Given the description of an element on the screen output the (x, y) to click on. 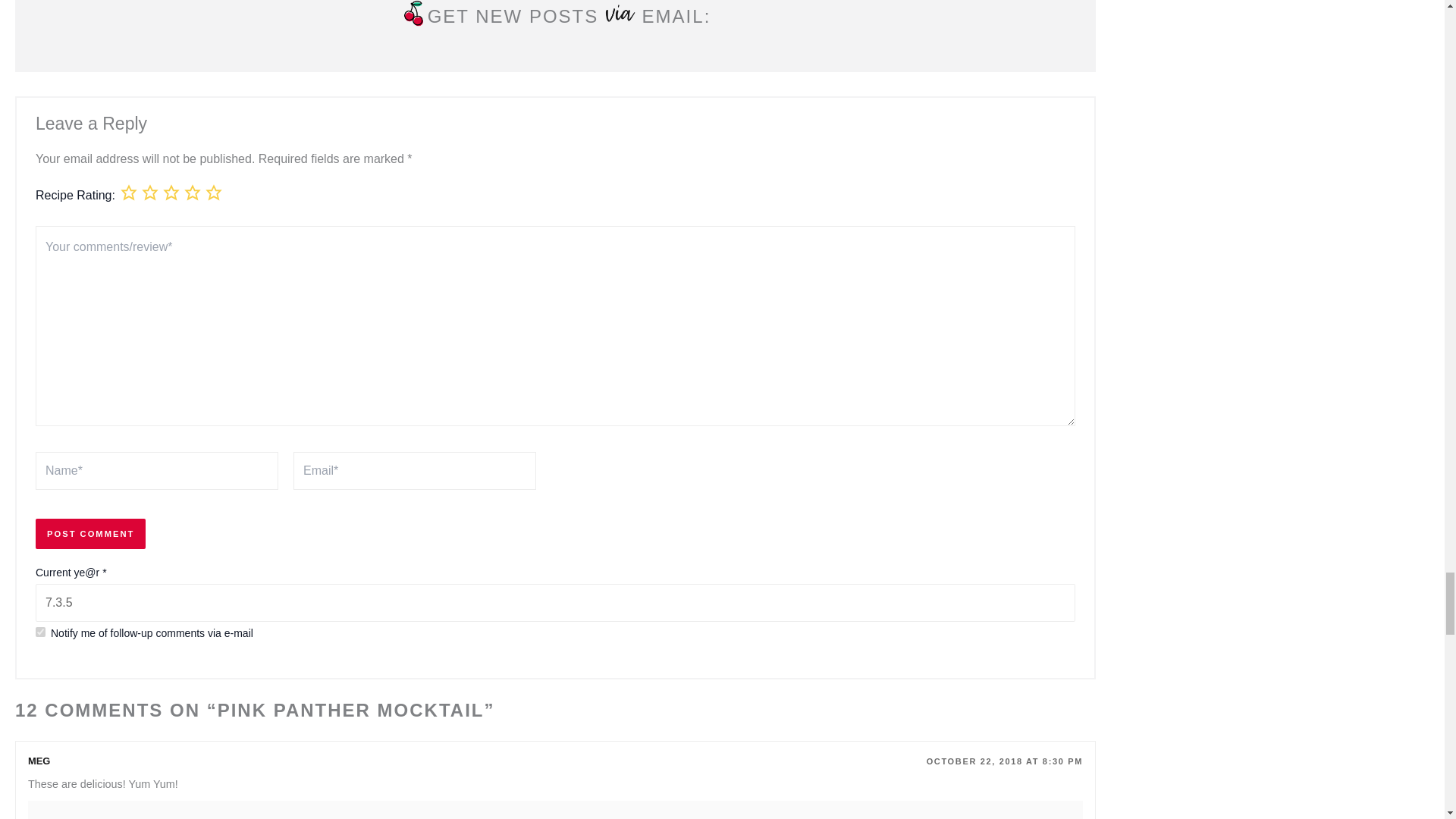
1 (39, 632)
Post Comment (89, 533)
7.3.5 (554, 602)
